Given the description of an element on the screen output the (x, y) to click on. 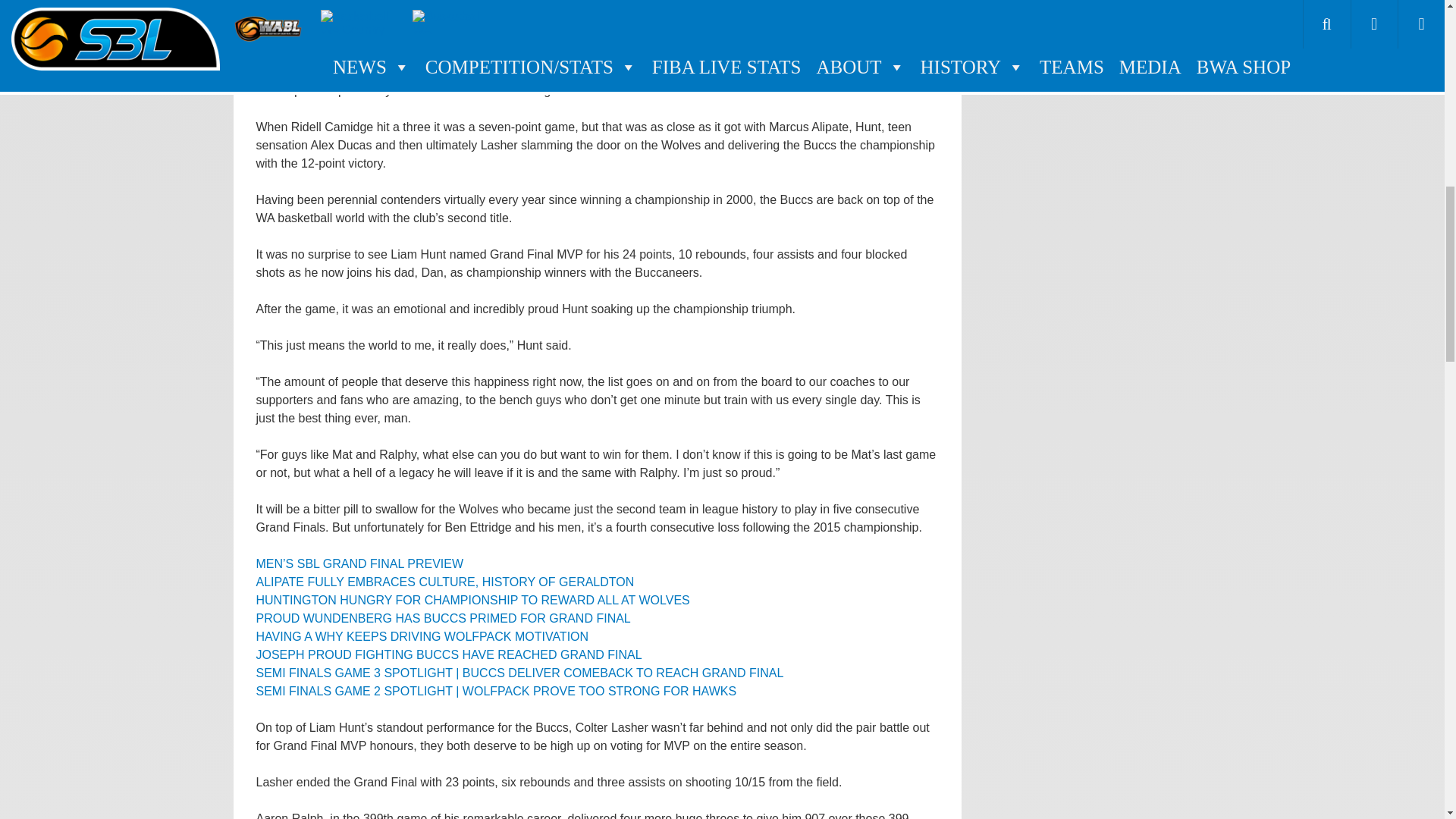
HUNTINGTON HUNGRY FOR CHAMPIONSHIP TO REWARD ALL AT WOLVES (473, 599)
PROUD WUNDENBERG HAS BUCCS PRIMED FOR GRAND FINAL (443, 617)
ALIPATE FULLY EMBRACES CULTURE, HISTORY OF GERALDTON (445, 581)
HAVING A WHY KEEPS DRIVING WOLFPACK MOTIVATION (422, 635)
